Given the description of an element on the screen output the (x, y) to click on. 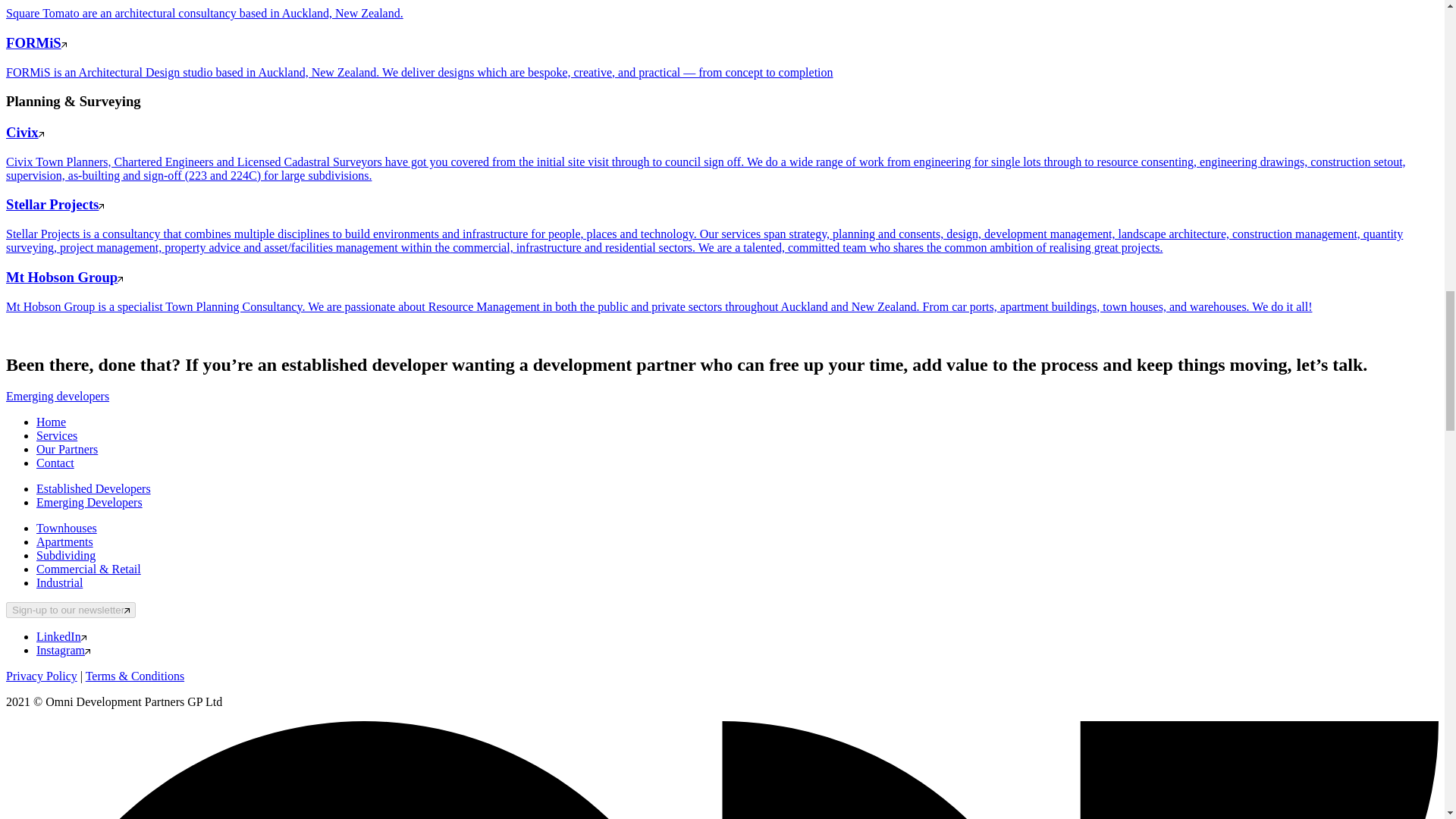
Townhouses (66, 527)
Established Developers (93, 488)
Our Partners (66, 449)
Services (56, 435)
Emerging developers (57, 395)
Established Developers (93, 488)
Emerging Developers (89, 502)
Emerging Developers (89, 502)
Home (50, 421)
Townhouses (66, 527)
